Given the description of an element on the screen output the (x, y) to click on. 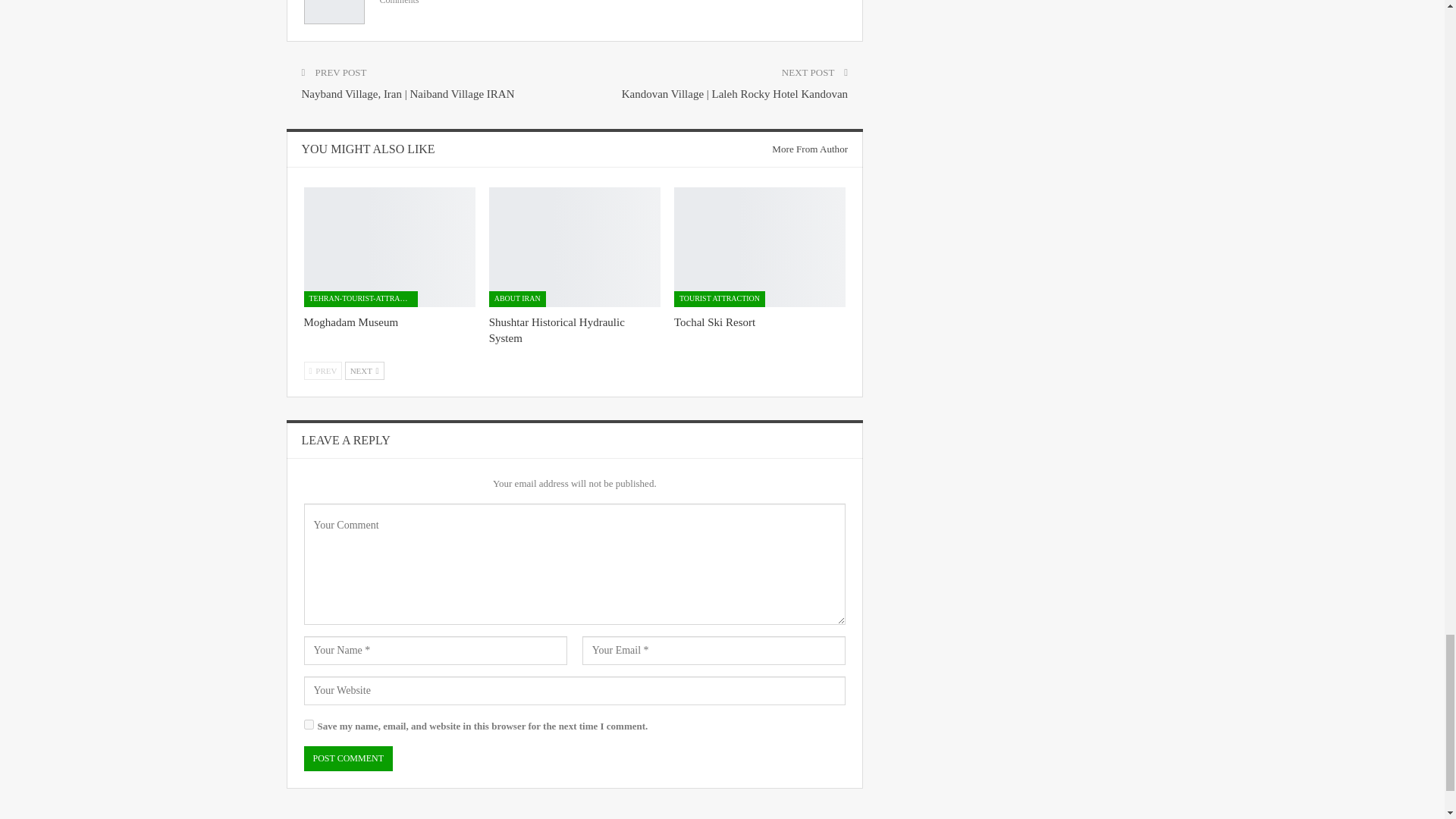
Tochal Ski Resort (714, 322)
Moghadam Museum (349, 322)
Tochal Ski Resort (759, 247)
Moghadam Museum (388, 247)
yes (307, 724)
Post Comment (346, 758)
